Given the description of an element on the screen output the (x, y) to click on. 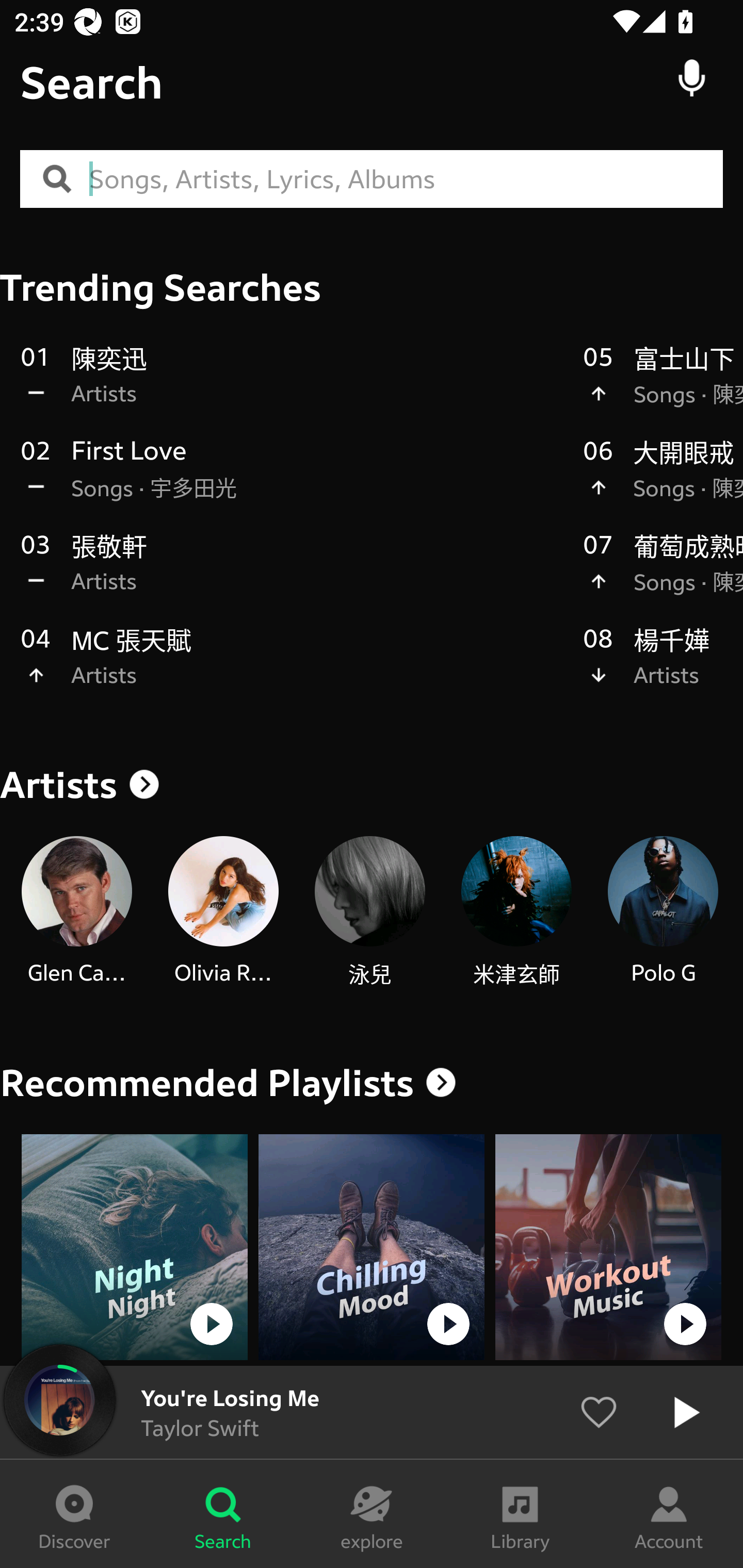
Songs, Artists, Lyrics, Albums (405, 179)
01 陳奕迅 Artists (291, 385)
05 富士山下 Songs · 陳奕迅 (663, 385)
02 First Love Songs · 宇多田光 (291, 479)
06 大開眼戒 Songs · 陳奕迅 (663, 479)
03 張敬軒 Artists (291, 573)
07 葡萄成熟時 Songs · 陳奕迅 (663, 573)
04 MC 張天賦 Artists (291, 667)
08 楊千嬅 Artists (663, 667)
Artists (371, 784)
Glen Campbell (76, 911)
Olivia Rodrigo (222, 911)
泳兒 (369, 912)
米津玄師 (516, 912)
Polo G (662, 911)
Recommended Playlists (206, 1082)
You're Losing Me Taylor Swift (371, 1412)
Discover (74, 1513)
explore (371, 1513)
Library (519, 1513)
Account (668, 1513)
